Given the description of an element on the screen output the (x, y) to click on. 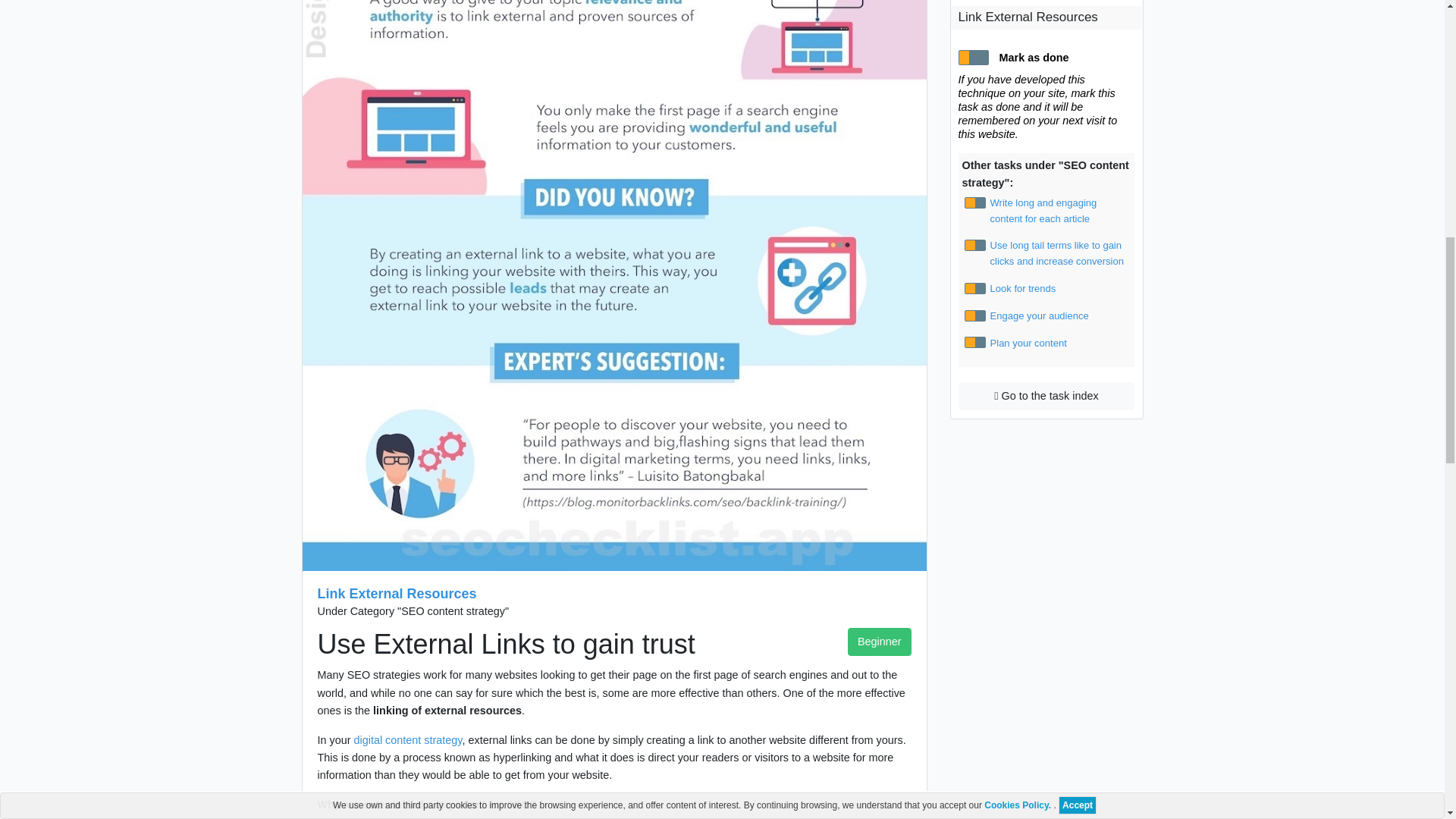
Link External Resources (396, 593)
digital content strategy (407, 739)
